Given the description of an element on the screen output the (x, y) to click on. 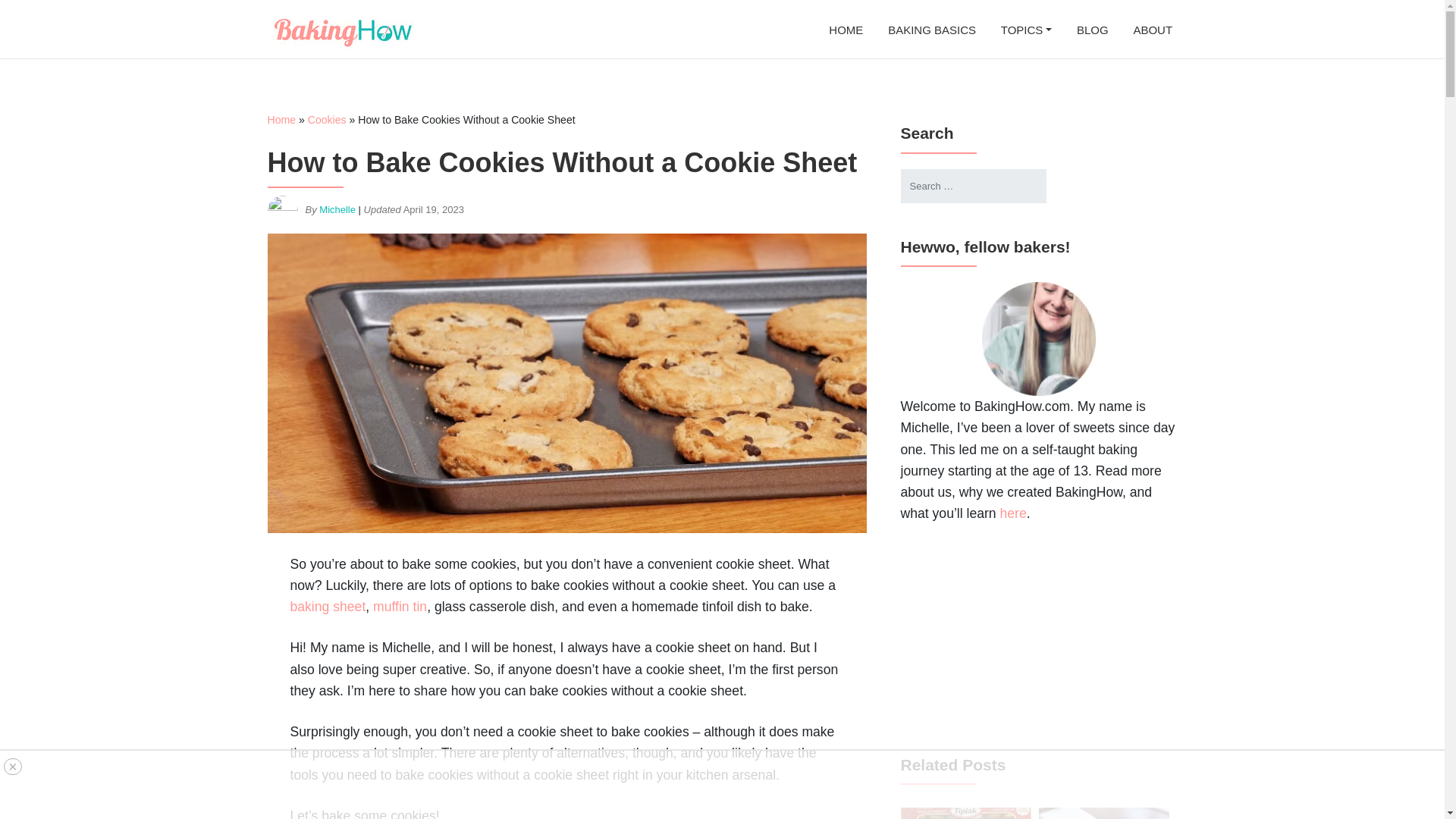
Cookies (326, 119)
Topics (1026, 29)
baking sheet (327, 606)
Michelle (336, 210)
TOPICS (1026, 29)
ABOUT (1152, 29)
BLOG (1092, 29)
Baking Basics (932, 29)
Home (280, 119)
Blog (1092, 29)
HOME (845, 29)
muffin tin (399, 606)
Home (845, 29)
BAKING BASICS (932, 29)
